Given the description of an element on the screen output the (x, y) to click on. 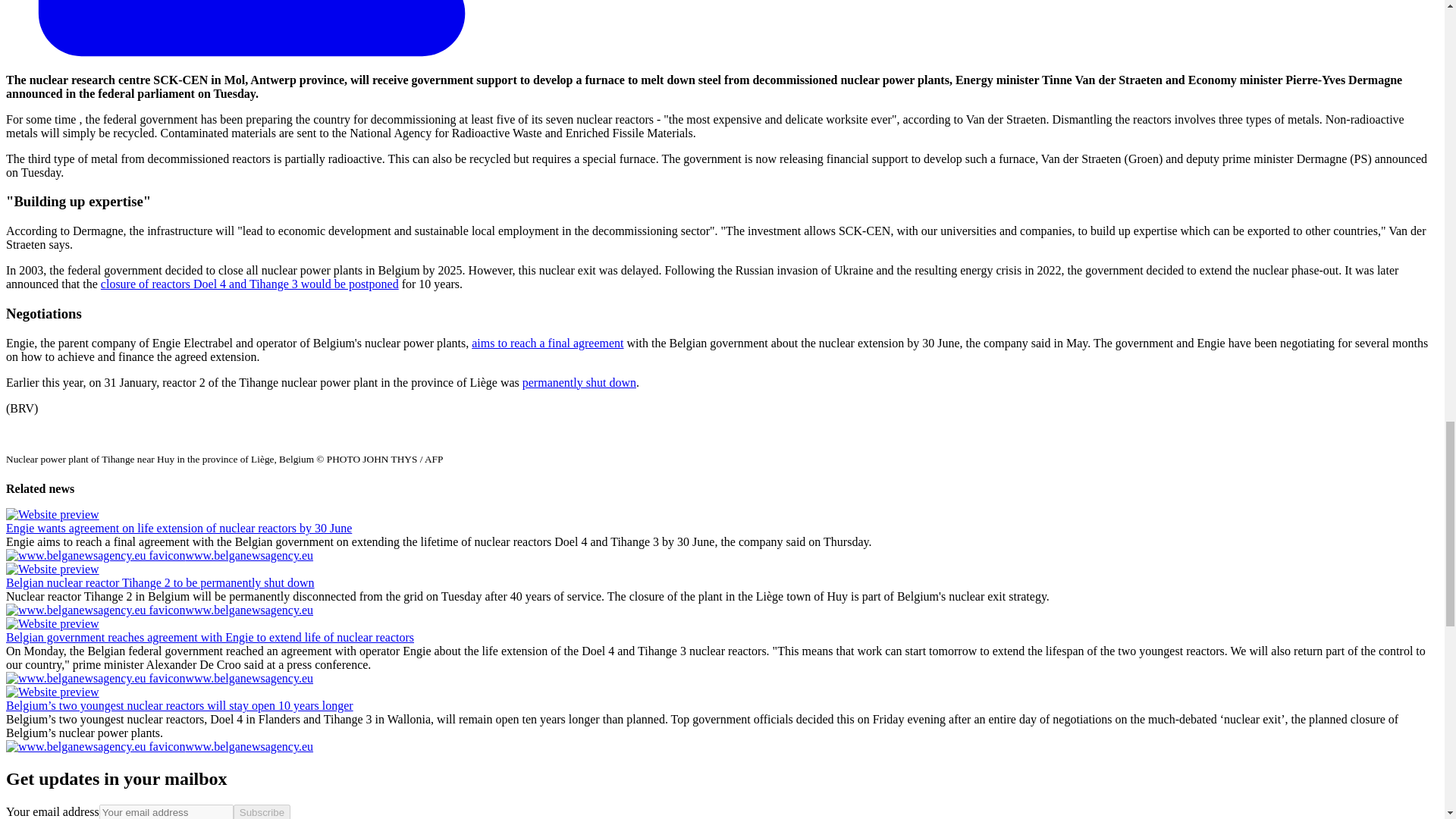
aims to reach a final agreement (547, 342)
www.belganewsagency.eu (159, 746)
permanently shut down (579, 382)
www.belganewsagency.eu (159, 554)
closure of reactors Doel 4 and Tihange 3 would be postponed (249, 283)
www.belganewsagency.eu (159, 677)
Subscribe (260, 811)
www.belganewsagency.eu (159, 609)
